Given the description of an element on the screen output the (x, y) to click on. 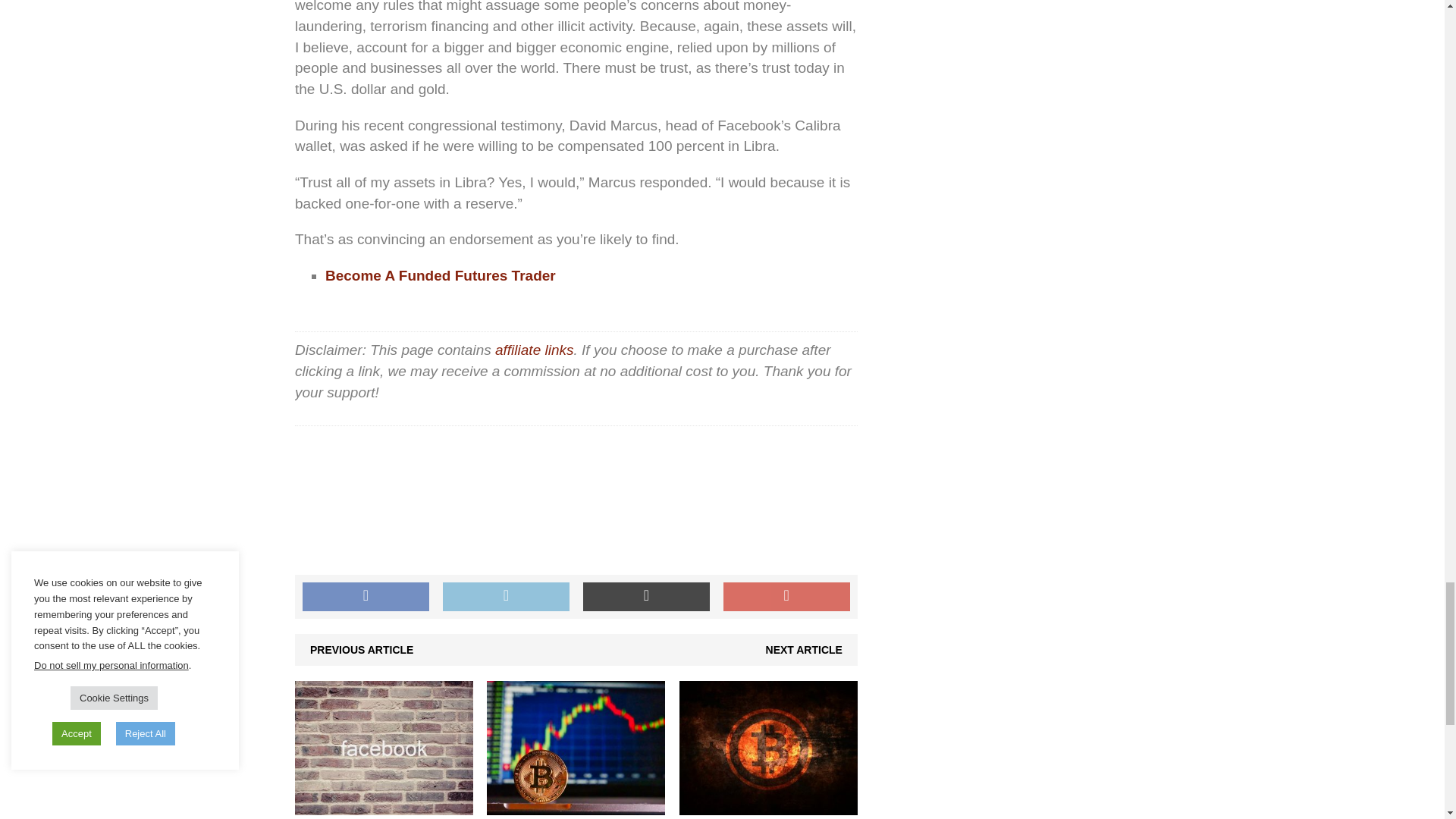
Bitcoin On The Cusp Of A Major Breakout (575, 806)
Share on Reddit (646, 596)
Share on Facebook (365, 596)
Tweet This Post (505, 596)
